Given the description of an element on the screen output the (x, y) to click on. 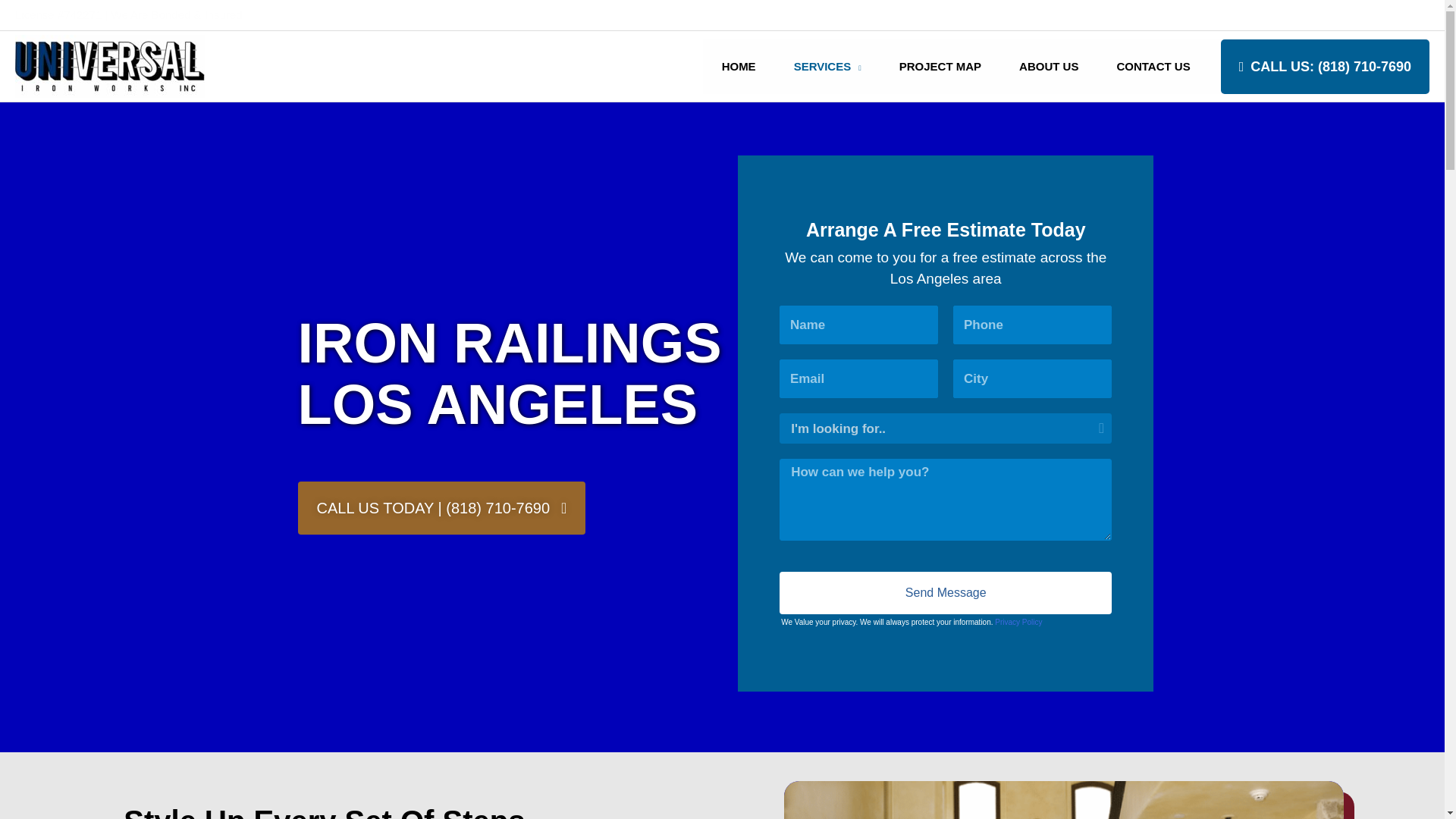
CONTACT US (1152, 66)
Send Message (945, 592)
HOME (738, 66)
PROJECT MAP (940, 66)
ABOUT US (1048, 66)
Privacy Policy (1018, 622)
Contact Us For A Quote (1368, 14)
SERVICES (827, 66)
